Given the description of an element on the screen output the (x, y) to click on. 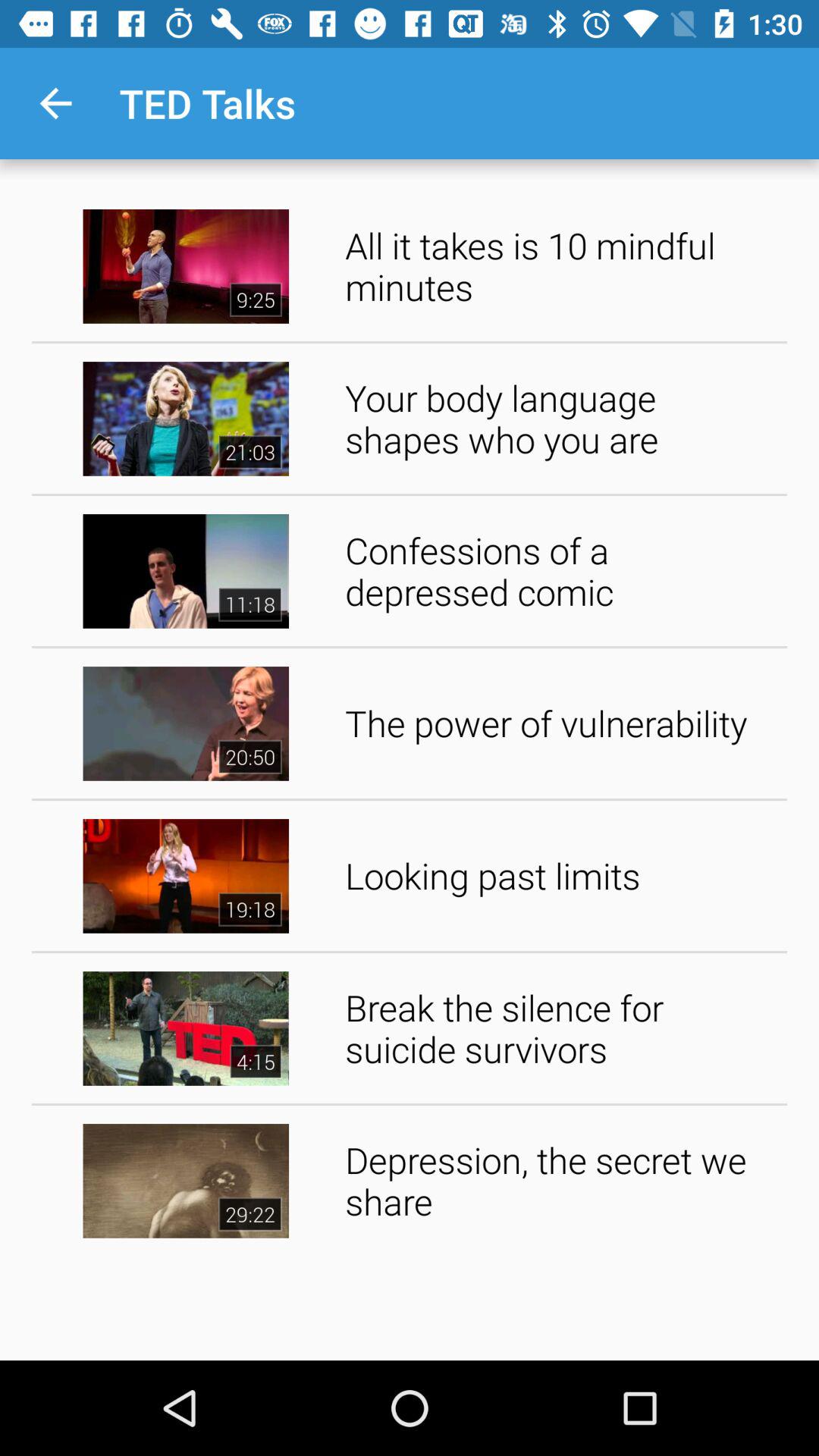
tap icon above break the silence item (560, 875)
